Given the description of an element on the screen output the (x, y) to click on. 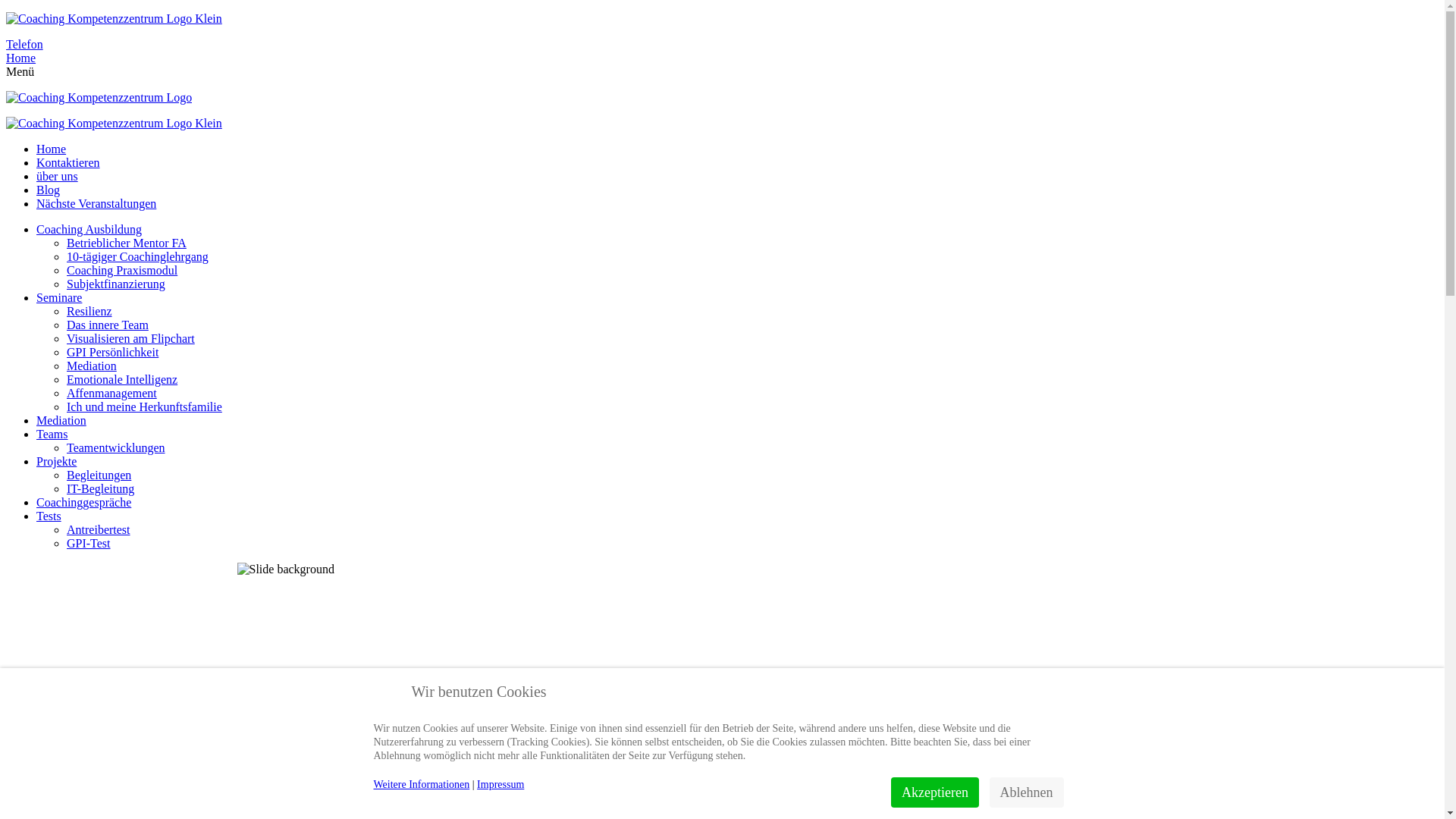
Resilienz Element type: text (89, 310)
Mediation Element type: text (61, 420)
Kontaktieren Element type: text (68, 162)
Projekte Element type: text (56, 461)
Tests Element type: text (48, 515)
Affenmanagement Element type: text (111, 392)
Emotionale Intelligenz Element type: text (121, 379)
Coaching Kompetenzzentrum Emmental Element type: hover (114, 123)
Ablehnen Element type: text (1026, 792)
Coaching Ausbildung Element type: text (88, 228)
Begleitungen Element type: text (98, 474)
Mediation Element type: text (91, 365)
Subjektfinanzierung Element type: text (115, 283)
Betrieblicher Mentor FA Element type: text (126, 242)
coaching kompetenzzentrum Element type: hover (722, 18)
Antreibertest Element type: text (98, 529)
Akzeptieren Element type: text (935, 792)
Home Element type: text (50, 148)
Teamentwicklungen Element type: text (115, 447)
Impressum Element type: text (500, 784)
GPI-Test Element type: text (88, 542)
Telefon Element type: text (722, 44)
IT-Begleitung Element type: text (100, 488)
Blog Element type: text (47, 189)
Teams Element type: text (52, 433)
Coaching Kompetenzzentrum Emmental Element type: hover (114, 18)
Weitere Informationen Element type: text (421, 784)
Coaching Praxismodul Element type: text (121, 269)
Das innere Team Element type: text (107, 324)
Ich und meine Herkunftsfamilie Element type: text (144, 406)
Home Element type: text (722, 58)
Visualisieren am Flipchart Element type: text (130, 338)
Seminare Element type: text (58, 297)
